Given the description of an element on the screen output the (x, y) to click on. 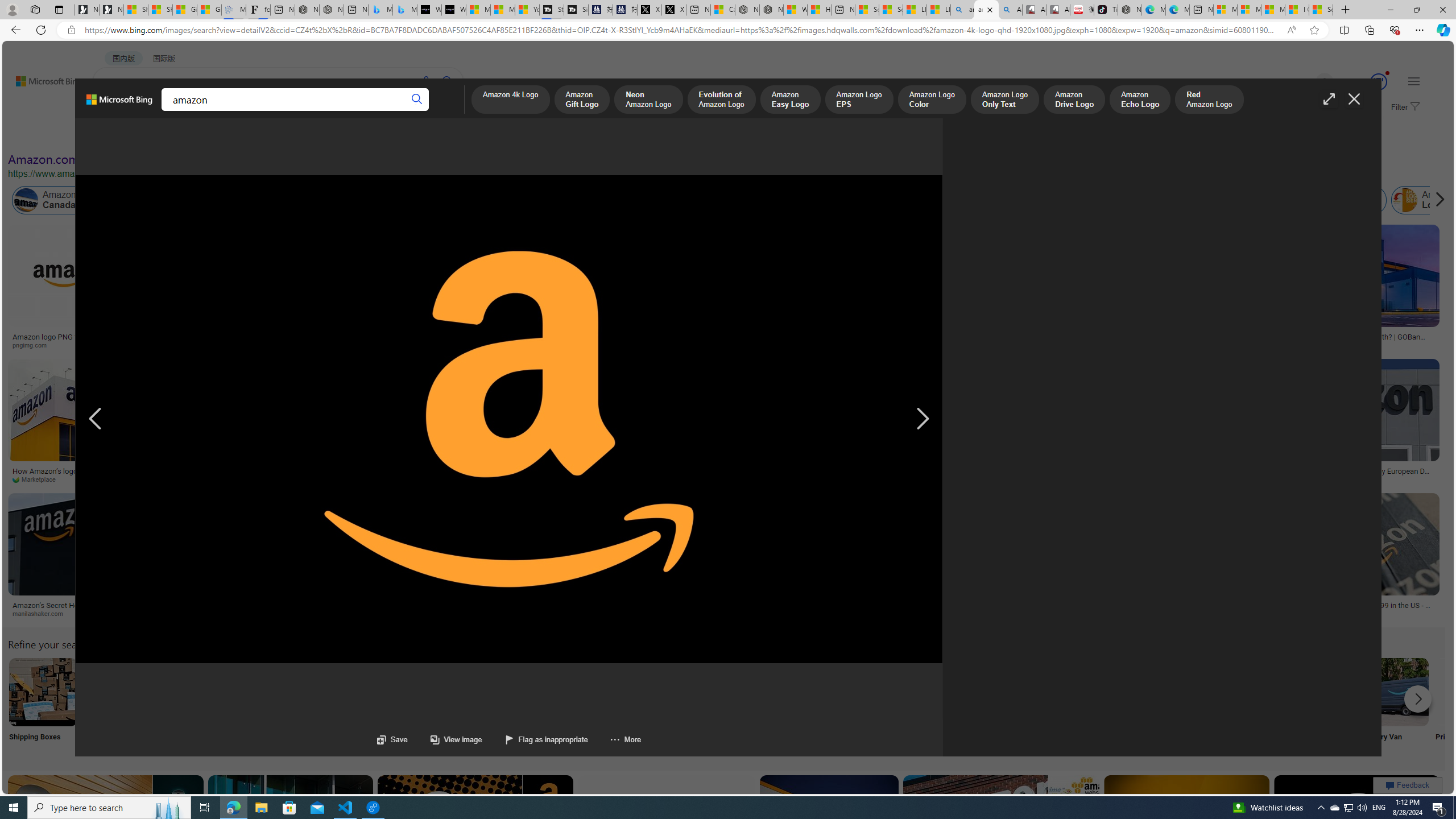
Long Island Press (232, 479)
Kindle Paperwhite Case (617, 298)
Amazon Canada Online (25, 200)
pngimg.com (34, 344)
olhardigital.com.br (823, 613)
pngimg.com (70, 344)
ACADEMIC (311, 111)
View image (444, 739)
Amazon Egypt (1265, 199)
